Given the description of an element on the screen output the (x, y) to click on. 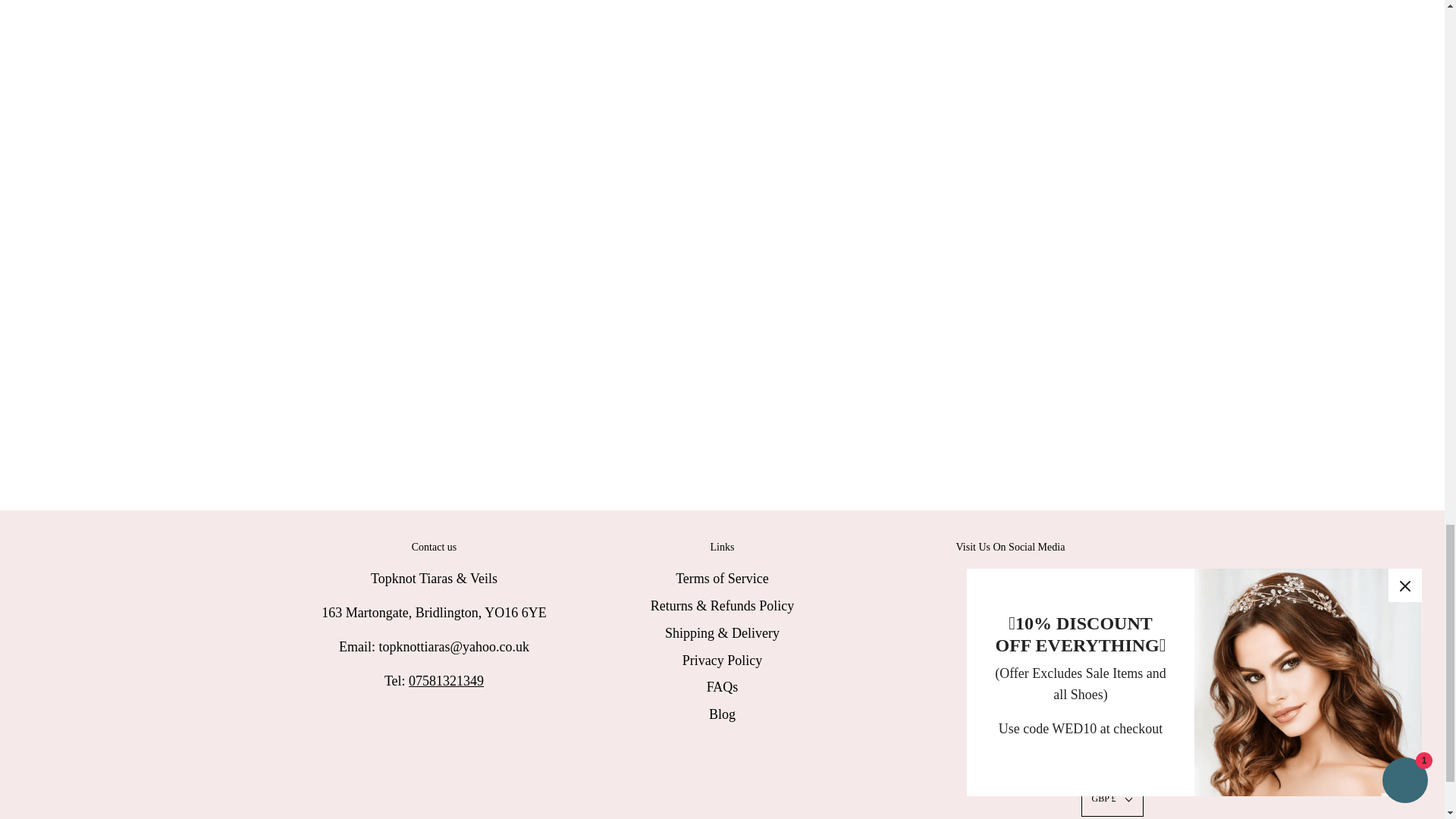
Instagram icon (1010, 580)
Facebook icon (982, 580)
Pinterest icon (1037, 580)
